Given the description of an element on the screen output the (x, y) to click on. 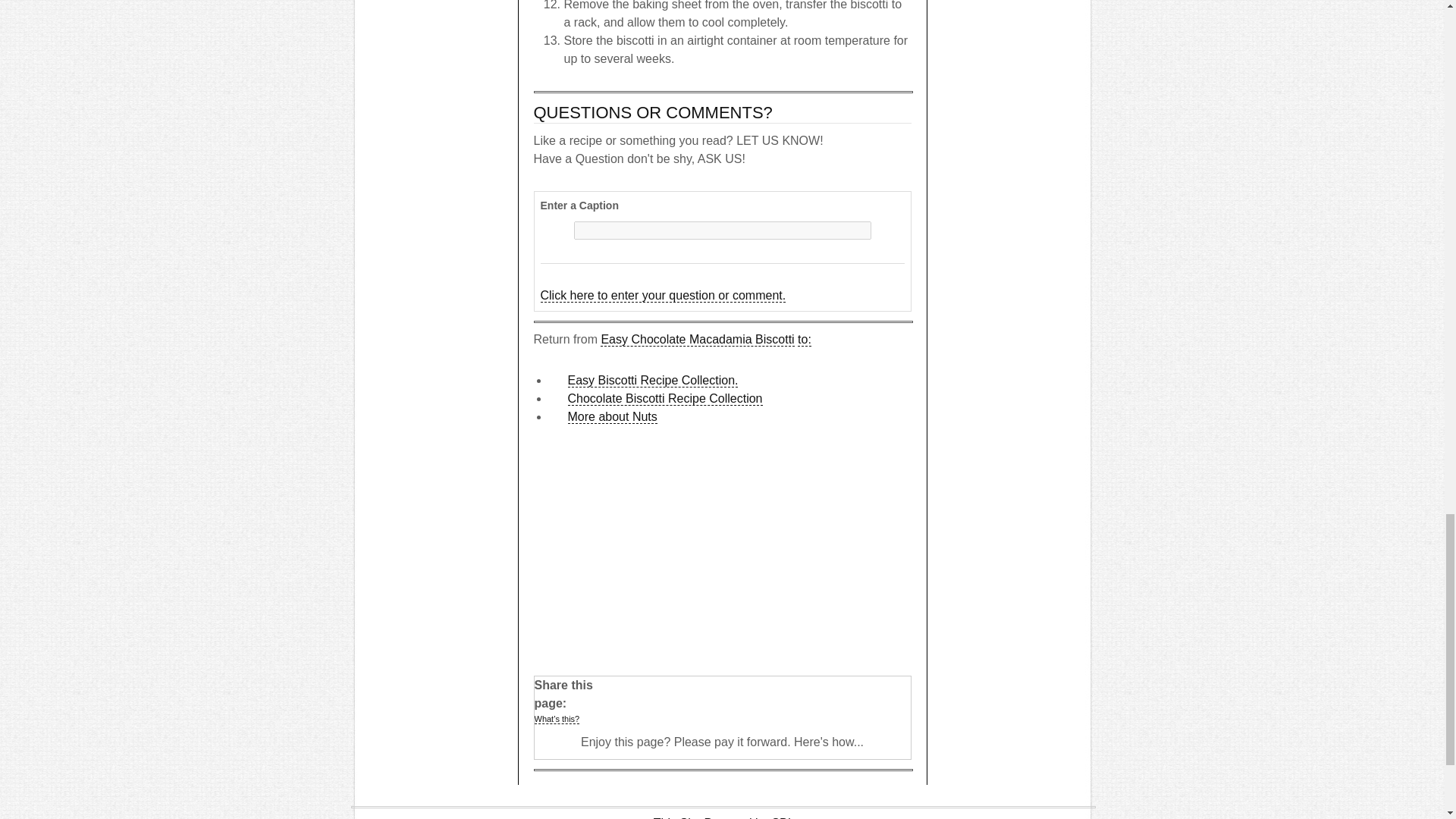
to: (803, 339)
Easy Chocolate Macadamia Biscotti (696, 339)
Chocolate Biscotti Recipe Collection (664, 398)
Click here to enter your question or comment. (663, 295)
More about Nuts (611, 417)
Easy Biscotti Recipe Collection. (652, 380)
